Given the description of an element on the screen output the (x, y) to click on. 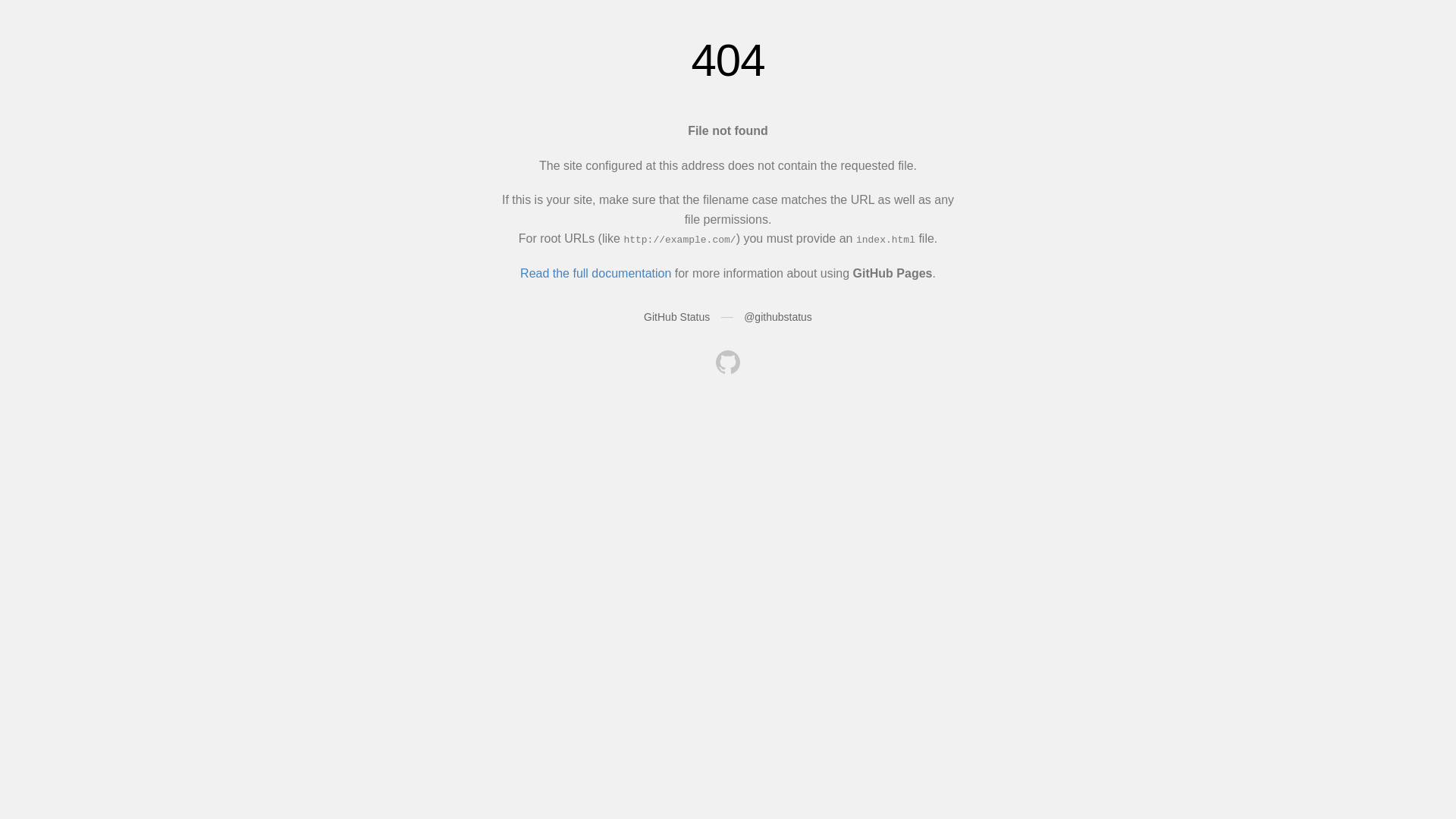
@githubstatus Element type: text (777, 316)
Read the full documentation Element type: text (595, 272)
GitHub Status Element type: text (676, 316)
